Given the description of an element on the screen output the (x, y) to click on. 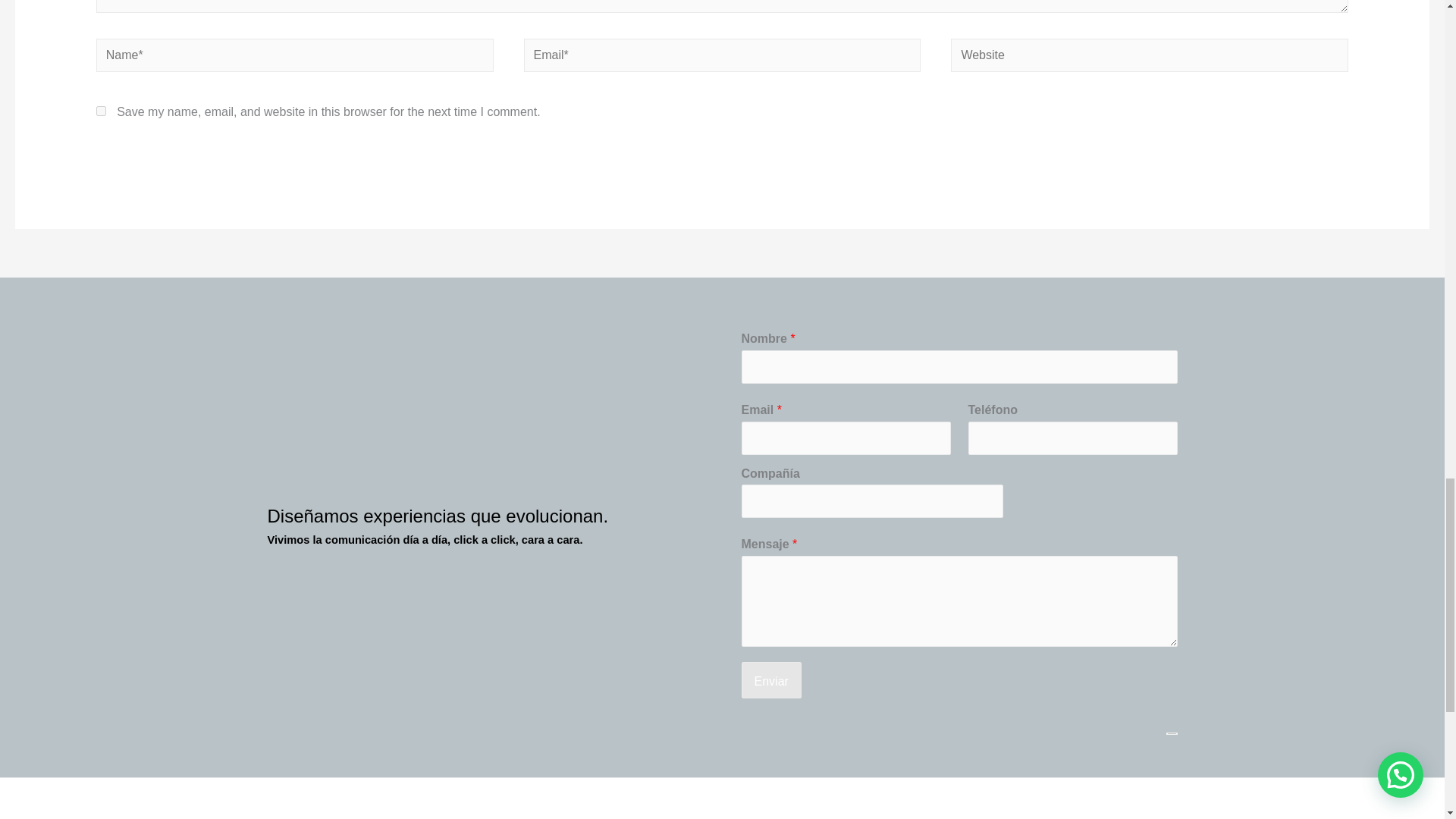
b88 slot (779, 765)
daftar slot88 (791, 810)
s77 resmi (784, 788)
Enviar (771, 679)
situs panen77 (796, 743)
yes (101, 111)
